Given the description of an element on the screen output the (x, y) to click on. 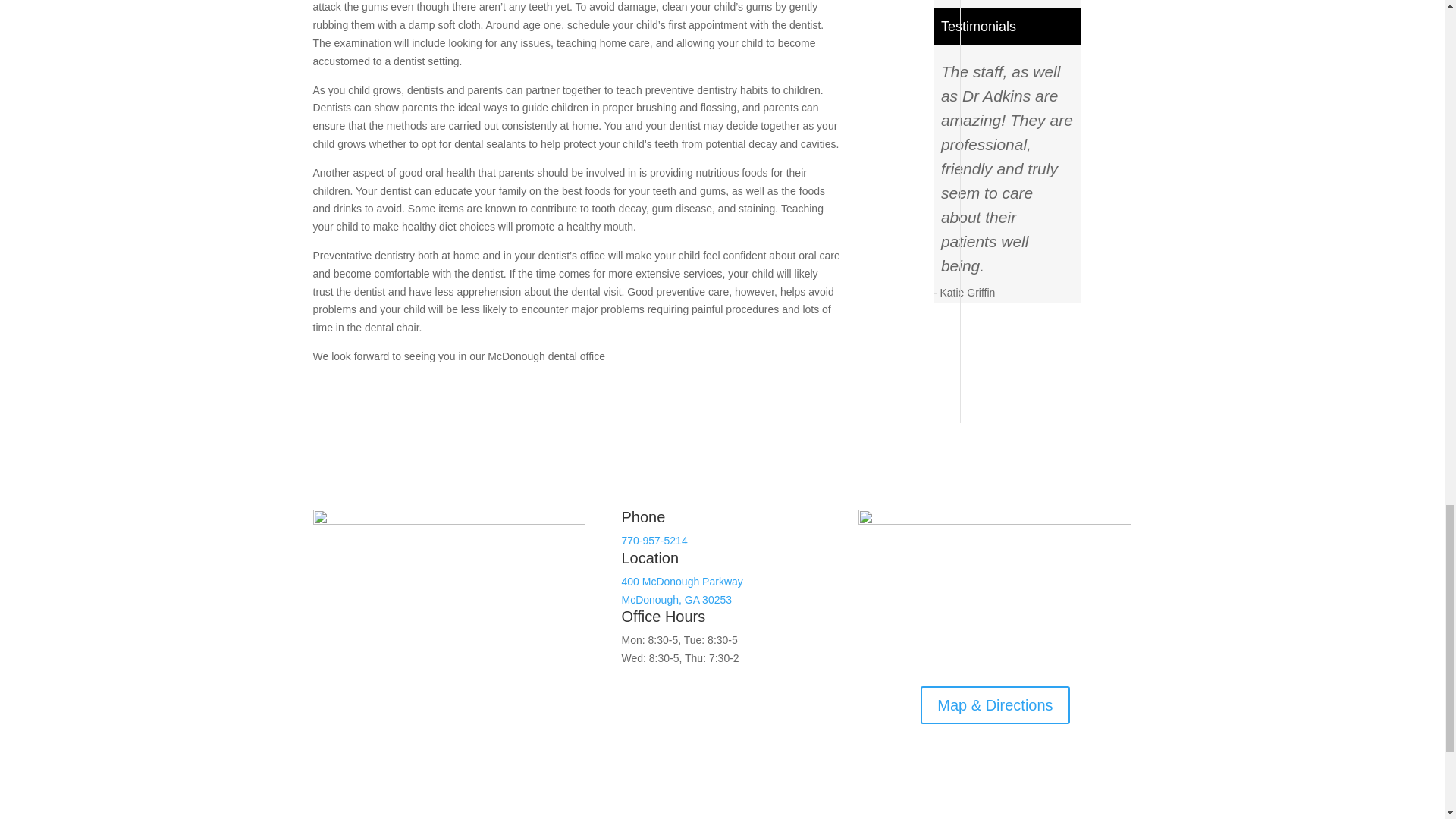
770-957-5214 (681, 590)
